Given the description of an element on the screen output the (x, y) to click on. 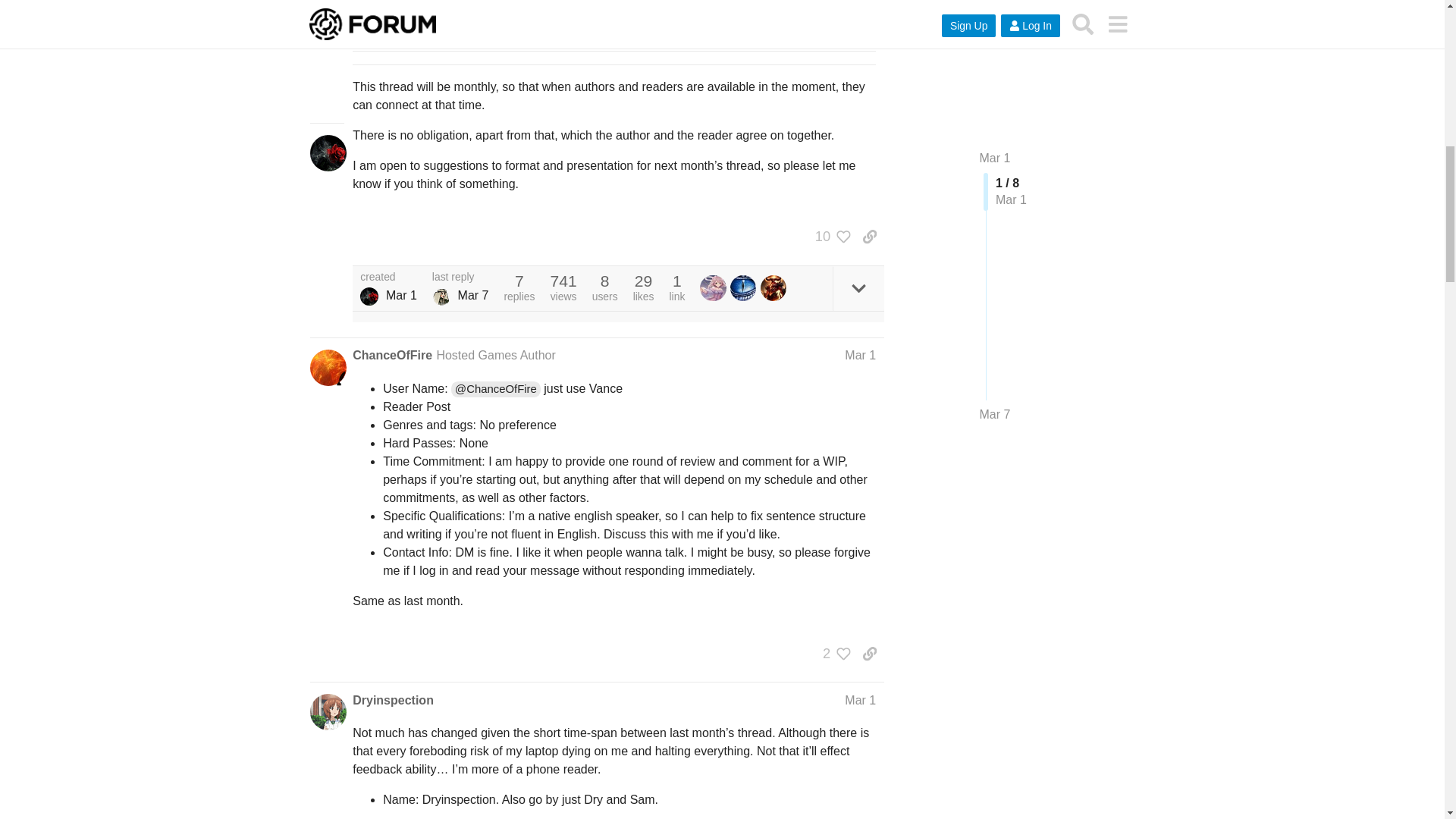
expand topic details (857, 288)
Mar 1, 2024 4:45 pm (400, 295)
copy a link to this post to clipboard (869, 236)
Mar 1 (860, 354)
Mar 1 (860, 699)
10 (829, 236)
ChanceOfFire (392, 355)
10 people liked this post (829, 236)
last reply (460, 276)
Dryinspection (392, 700)
Arana Lim (440, 296)
Writer  (368, 296)
2 (832, 653)
